Given the description of an element on the screen output the (x, y) to click on. 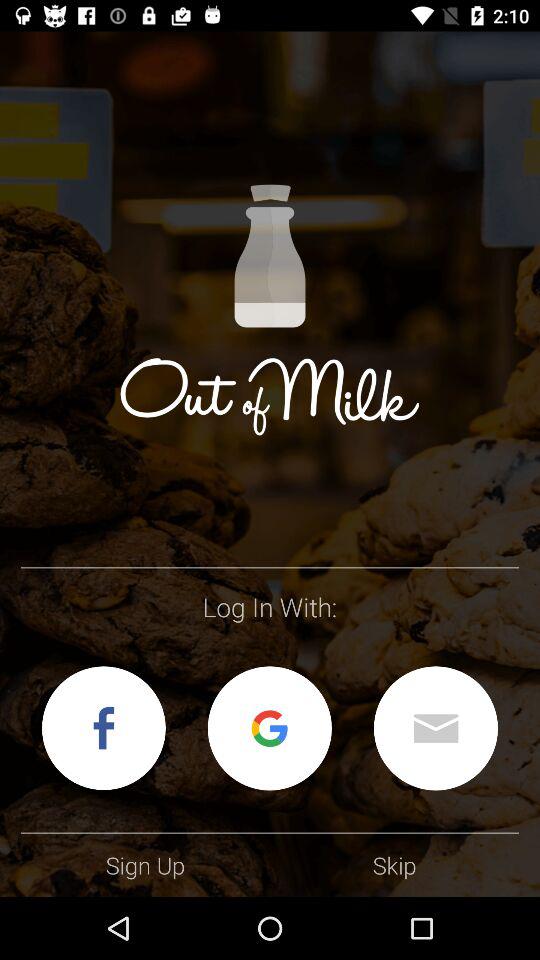
go to message (435, 728)
